Given the description of an element on the screen output the (x, y) to click on. 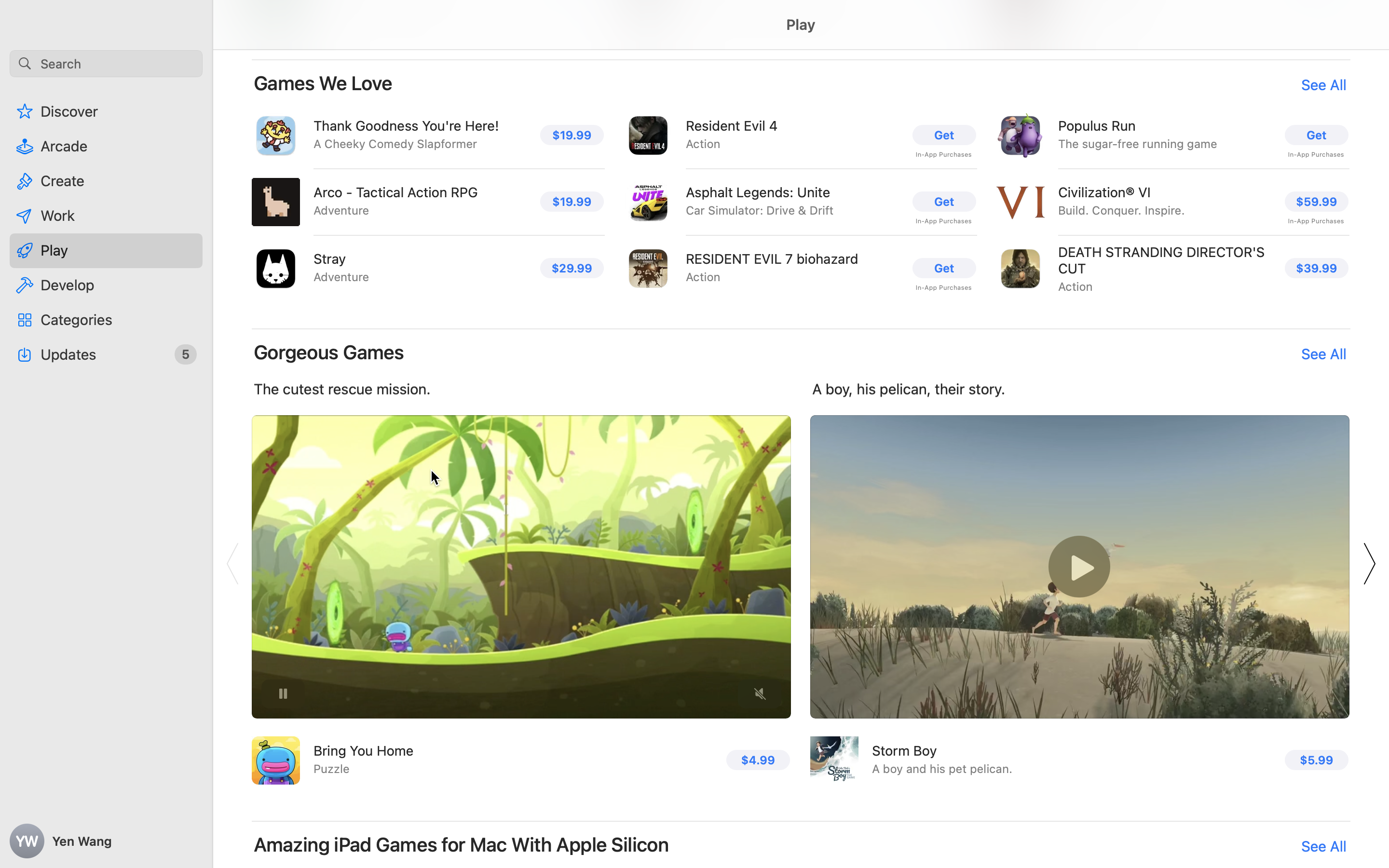
Yen Wang Element type: AXButton (106, 840)
Play Element type: AXStaticText (800, 24)
Gorgeous Games Element type: AXStaticText (328, 351)
Games We Love Element type: AXStaticText (322, 82)
Amazing iPad Games for Mac With Apple Silicon Element type: AXStaticText (461, 844)
